Given the description of an element on the screen output the (x, y) to click on. 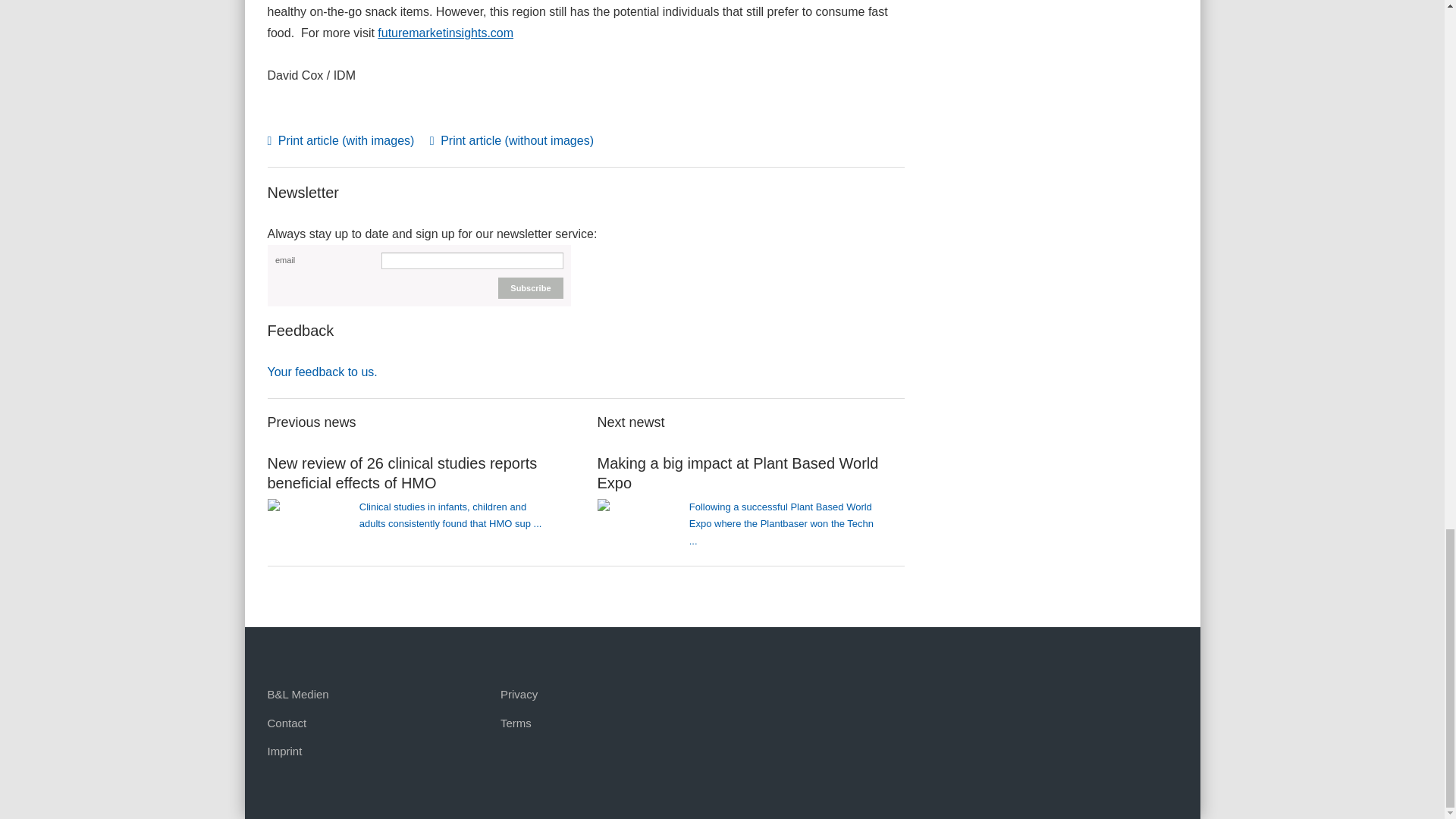
Imprint (283, 750)
Privacy (518, 694)
Terms (515, 722)
Your feedback to us. (321, 371)
Contact (285, 722)
futuremarketinsights.com (445, 32)
